Given the description of an element on the screen output the (x, y) to click on. 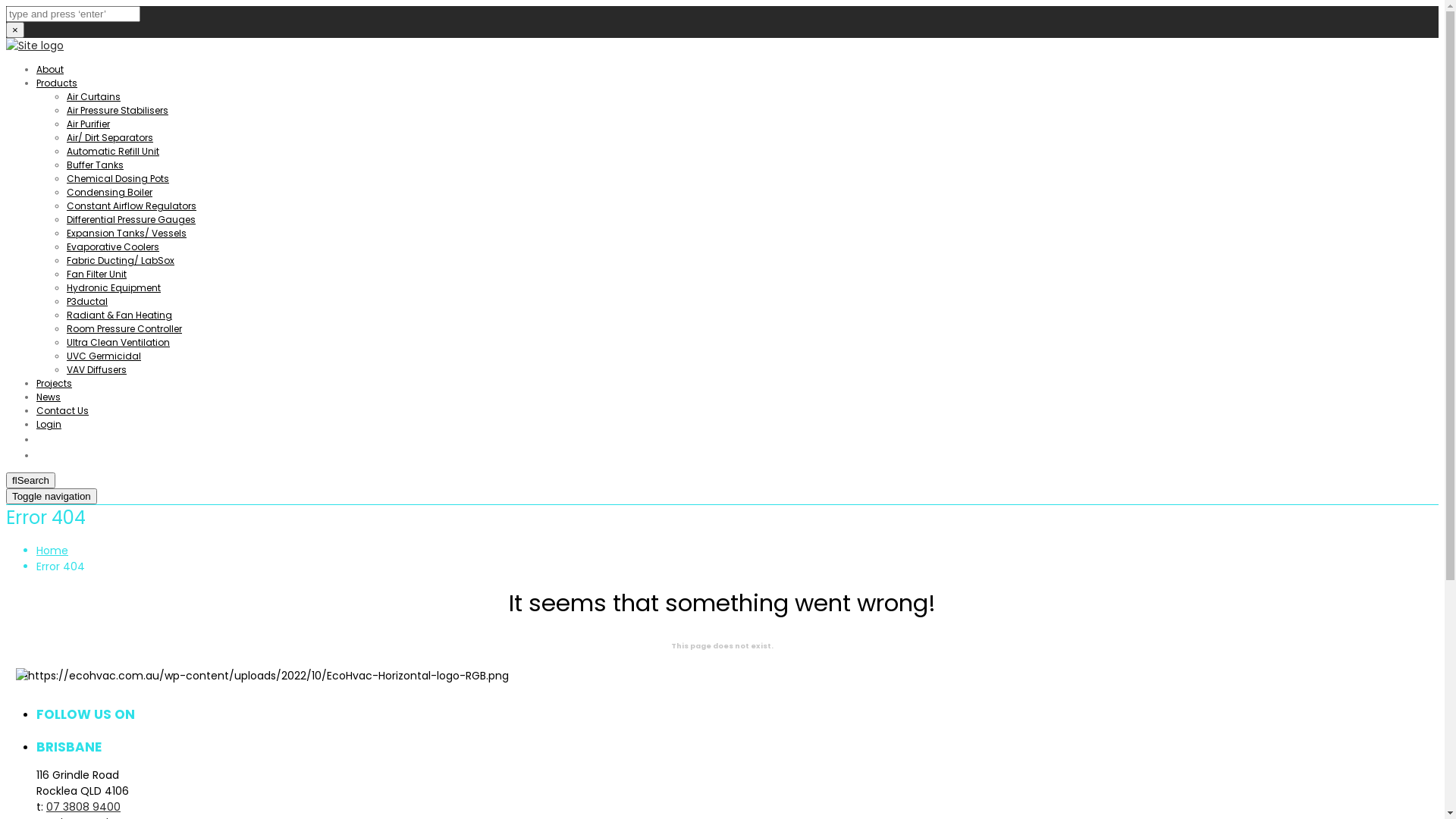
Room Pressure Controller Element type: text (124, 328)
Air Curtains Element type: text (93, 96)
Fan Filter Unit Element type: text (96, 273)
About Element type: text (49, 68)
Expansion Tanks/ Vessels Element type: text (126, 232)
Buffer Tanks Element type: text (94, 164)
Products Element type: text (56, 82)
Ultra Clean Ventilation Element type: text (117, 341)
Toggle navigation Element type: text (51, 496)
Air/ Dirt Separators Element type: text (109, 137)
Login Element type: text (48, 423)
P3ductal Element type: text (86, 300)
Chemical Dosing Pots Element type: text (117, 178)
Search Element type: text (30, 480)
07 3808 9400 Element type: text (83, 806)
Automatic Refill Unit Element type: text (112, 150)
Air Pressure Stabilisers Element type: text (117, 109)
Radiant & Fan Heating Element type: text (119, 314)
Constant Airflow Regulators Element type: text (131, 205)
Air Purifier Element type: text (87, 123)
Hydronic Equipment Element type: text (113, 287)
Condensing Boiler Element type: text (109, 191)
VAV Diffusers Element type: text (96, 369)
Projects Element type: text (54, 382)
Evaporative Coolers Element type: text (112, 246)
News Element type: text (48, 396)
Fabric Ducting/ LabSox Element type: text (120, 260)
Differential Pressure Gauges Element type: text (130, 219)
Home Element type: text (52, 550)
Contact Us Element type: text (62, 410)
UVC Germicidal Element type: text (103, 355)
